Given the description of an element on the screen output the (x, y) to click on. 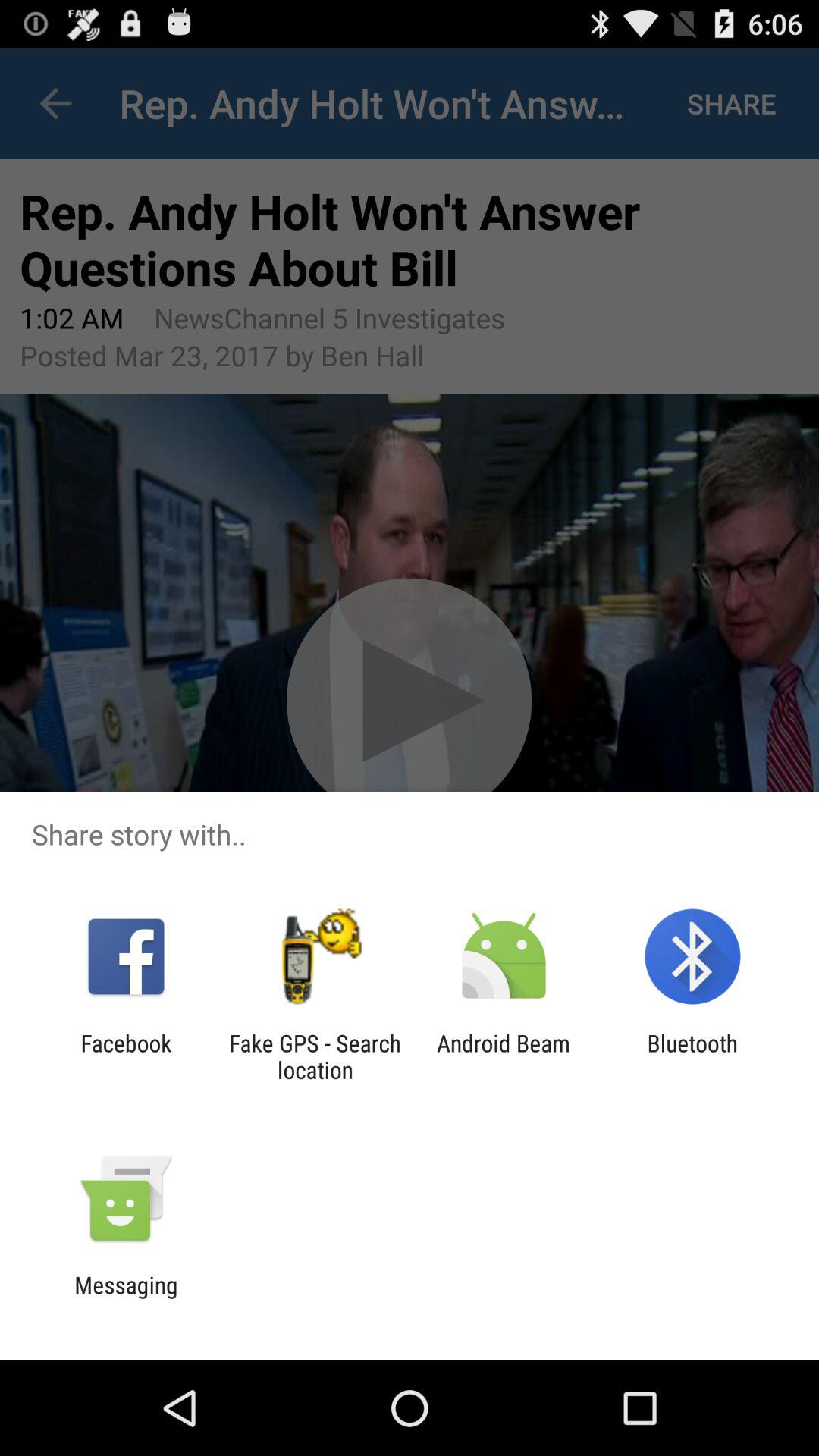
select the facebook (125, 1056)
